Given the description of an element on the screen output the (x, y) to click on. 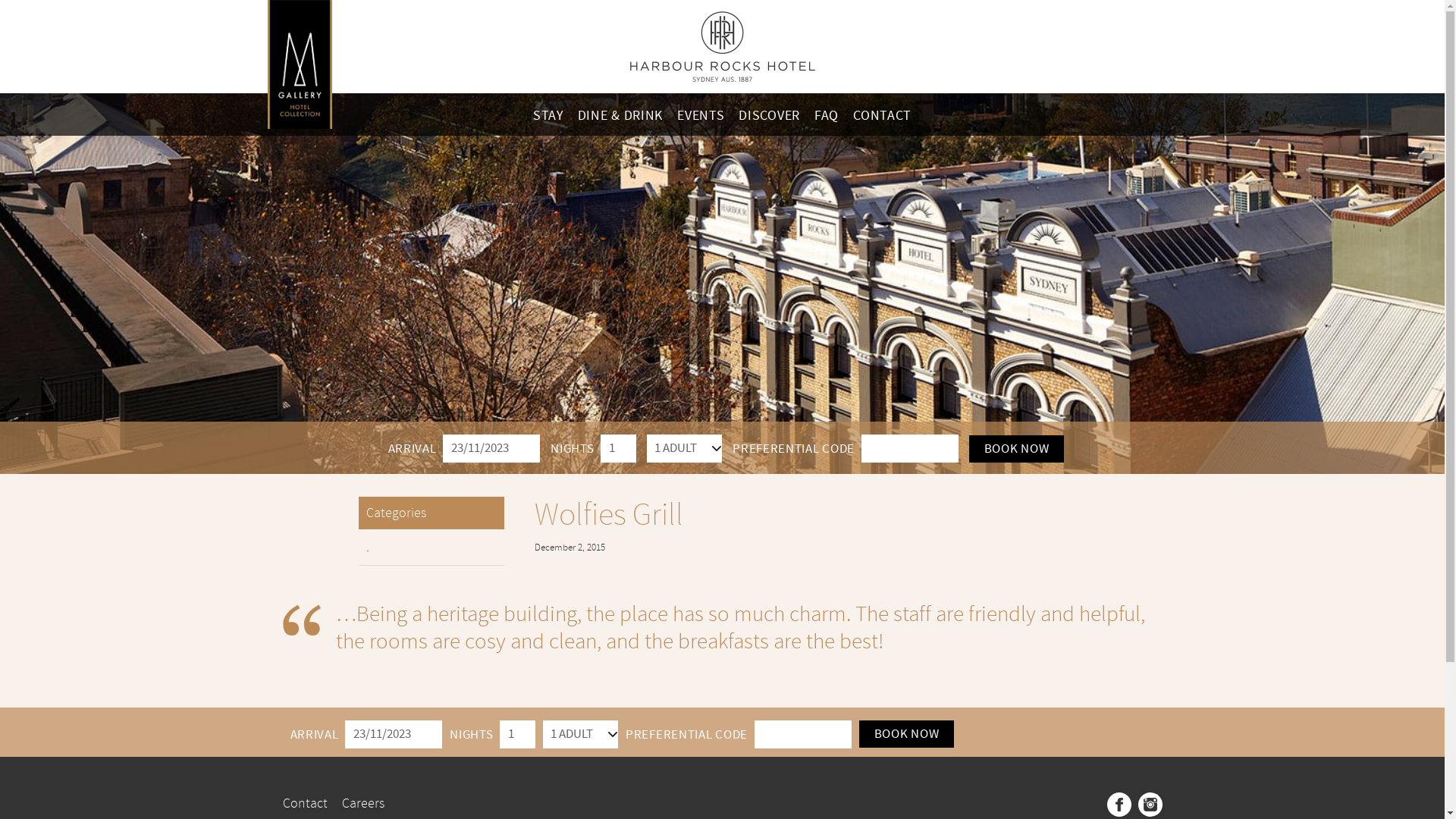
STAY Element type: text (548, 114)
FAQ Element type: text (826, 114)
Book Now Element type: text (906, 733)
. Element type: text (430, 546)
CONTACT Element type: text (882, 114)
DINE & DRINK Element type: text (619, 114)
EVENTS Element type: text (700, 114)
Careers Element type: text (362, 803)
Facebook Element type: text (1119, 804)
DISCOVER Element type: text (769, 114)
Instagram Element type: text (1149, 804)
Book Now Element type: text (1016, 448)
Contact Element type: text (304, 803)
